Given the description of an element on the screen output the (x, y) to click on. 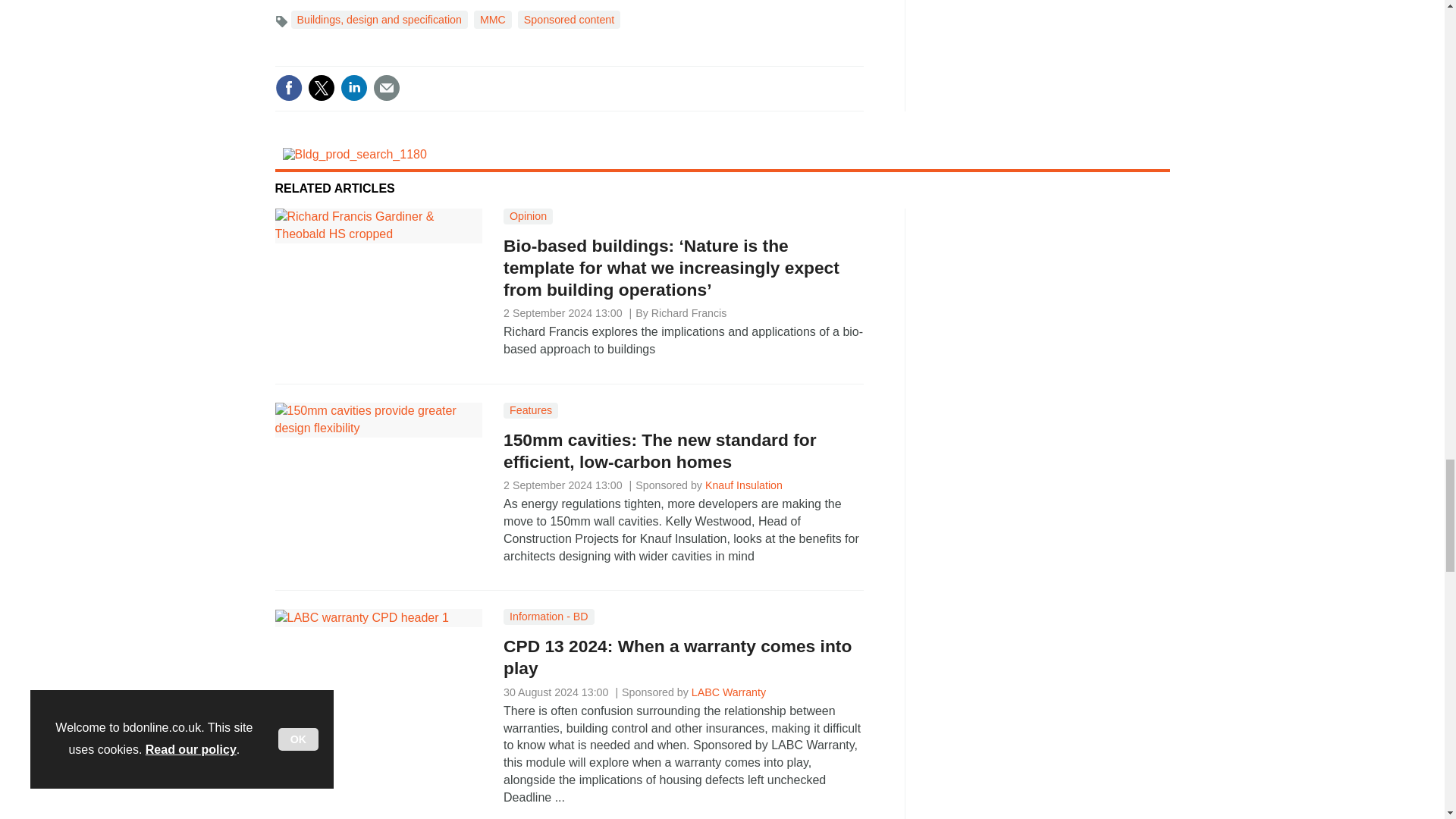
Share this on Twitter (320, 87)
Email this article (386, 87)
Share this on Linked in (352, 87)
Share this on Facebook (288, 87)
